Given the description of an element on the screen output the (x, y) to click on. 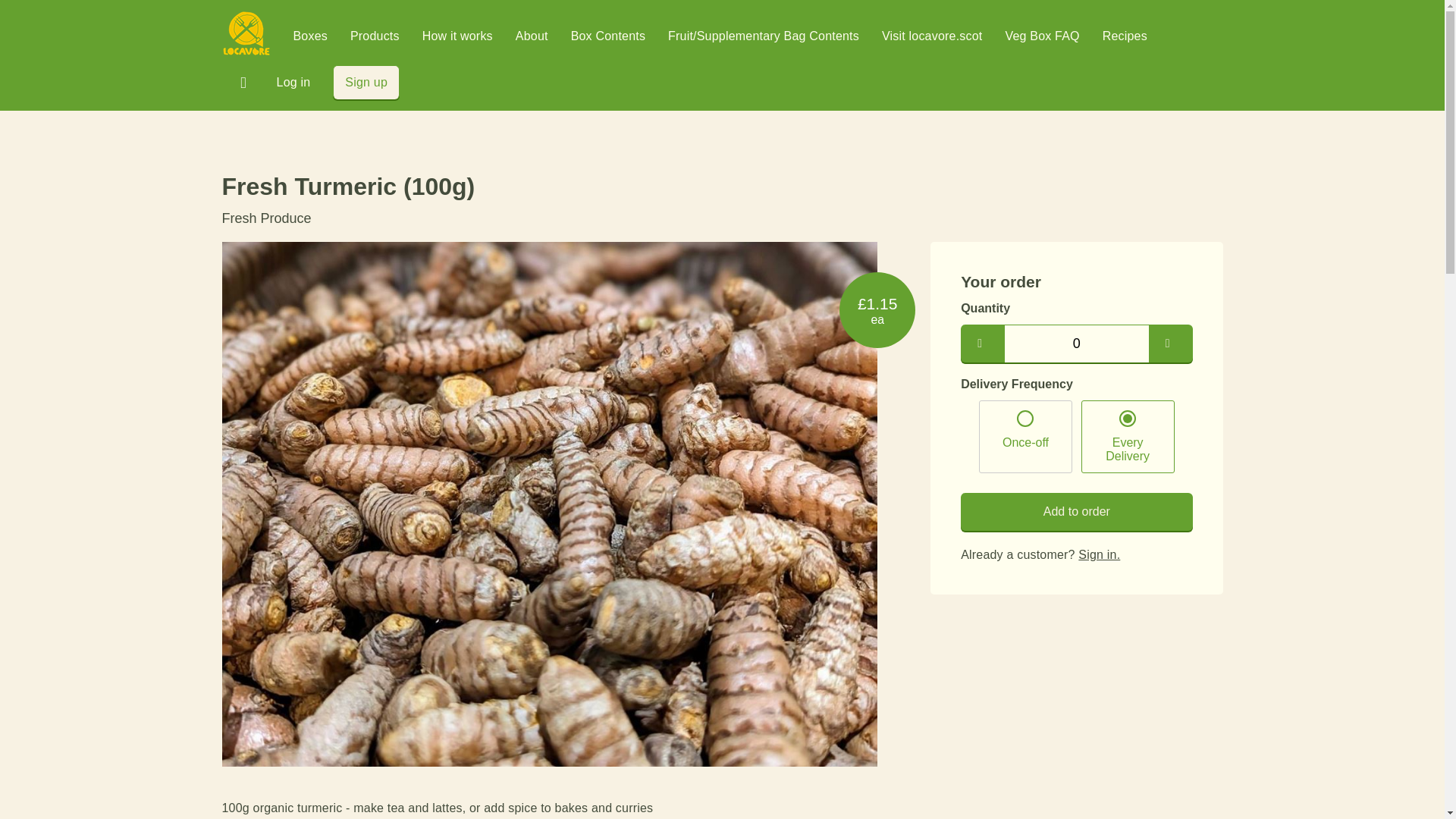
Boxes (309, 36)
Sign in. (1098, 554)
Box Contents (607, 36)
Visit locavore.scot (931, 36)
0 (1076, 343)
Add to order (1076, 511)
How it works (457, 36)
Log in (293, 82)
About (531, 36)
Veg Box FAQ (1041, 36)
Recipes (1124, 36)
Sign up (365, 82)
Products (374, 36)
